Given the description of an element on the screen output the (x, y) to click on. 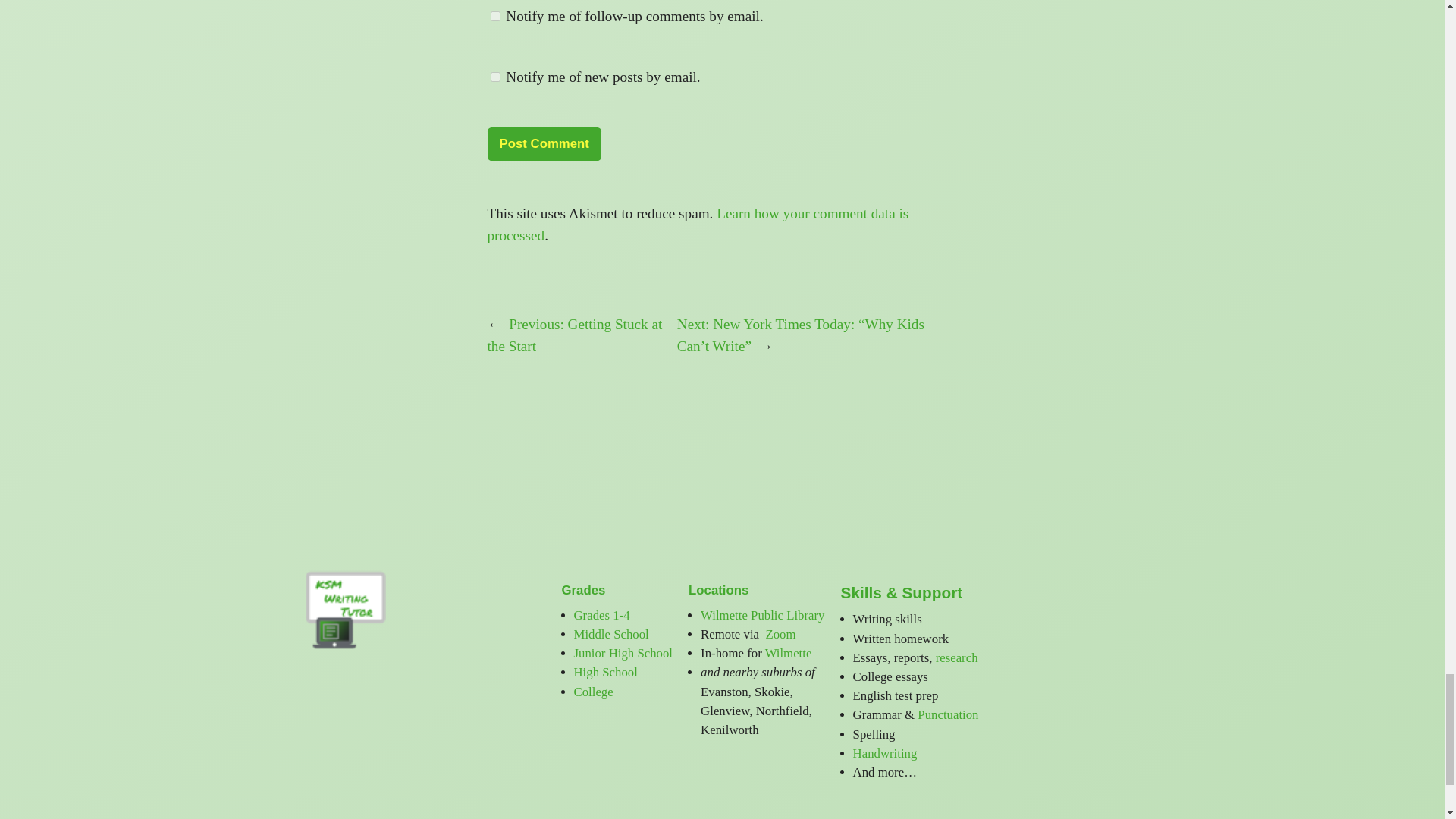
Junior High School (622, 653)
Post Comment (542, 143)
Middle School (610, 634)
High School (605, 672)
 Zoom (777, 634)
Grades 1-4 (600, 615)
Post Comment (542, 143)
Previous: Getting Stuck at the Start (574, 334)
Wilmette Public Library (762, 615)
subscribe (494, 76)
